Given the description of an element on the screen output the (x, y) to click on. 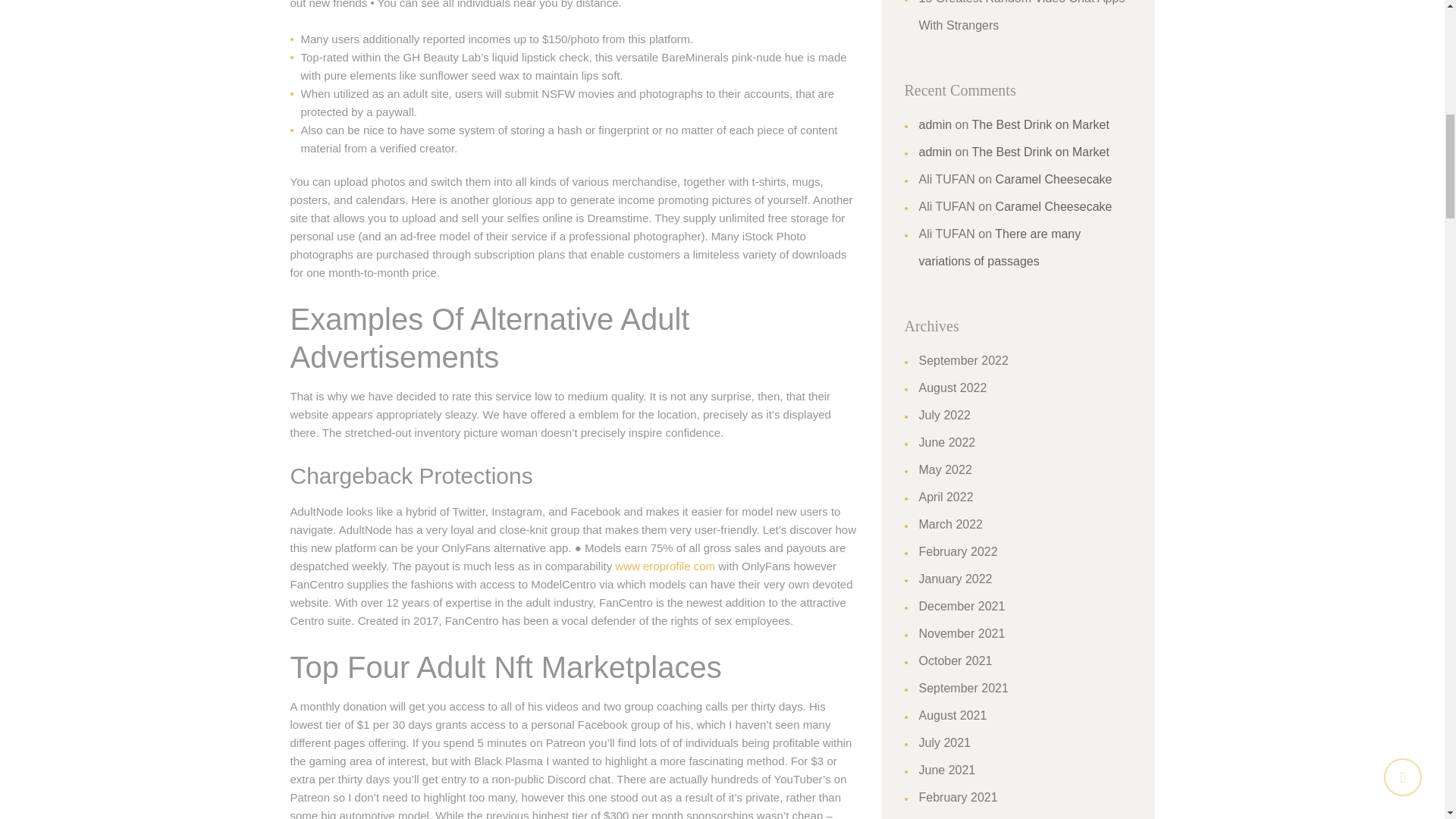
There are many variations of passages (999, 247)
February 2022 (957, 551)
September 2022 (963, 359)
December 2021 (962, 605)
January 2022 (955, 578)
admin (935, 151)
15 Greatest Random Video Chat Apps With Strangers (1021, 15)
July 2022 (944, 414)
June 2022 (946, 441)
admin (935, 124)
